Given the description of an element on the screen output the (x, y) to click on. 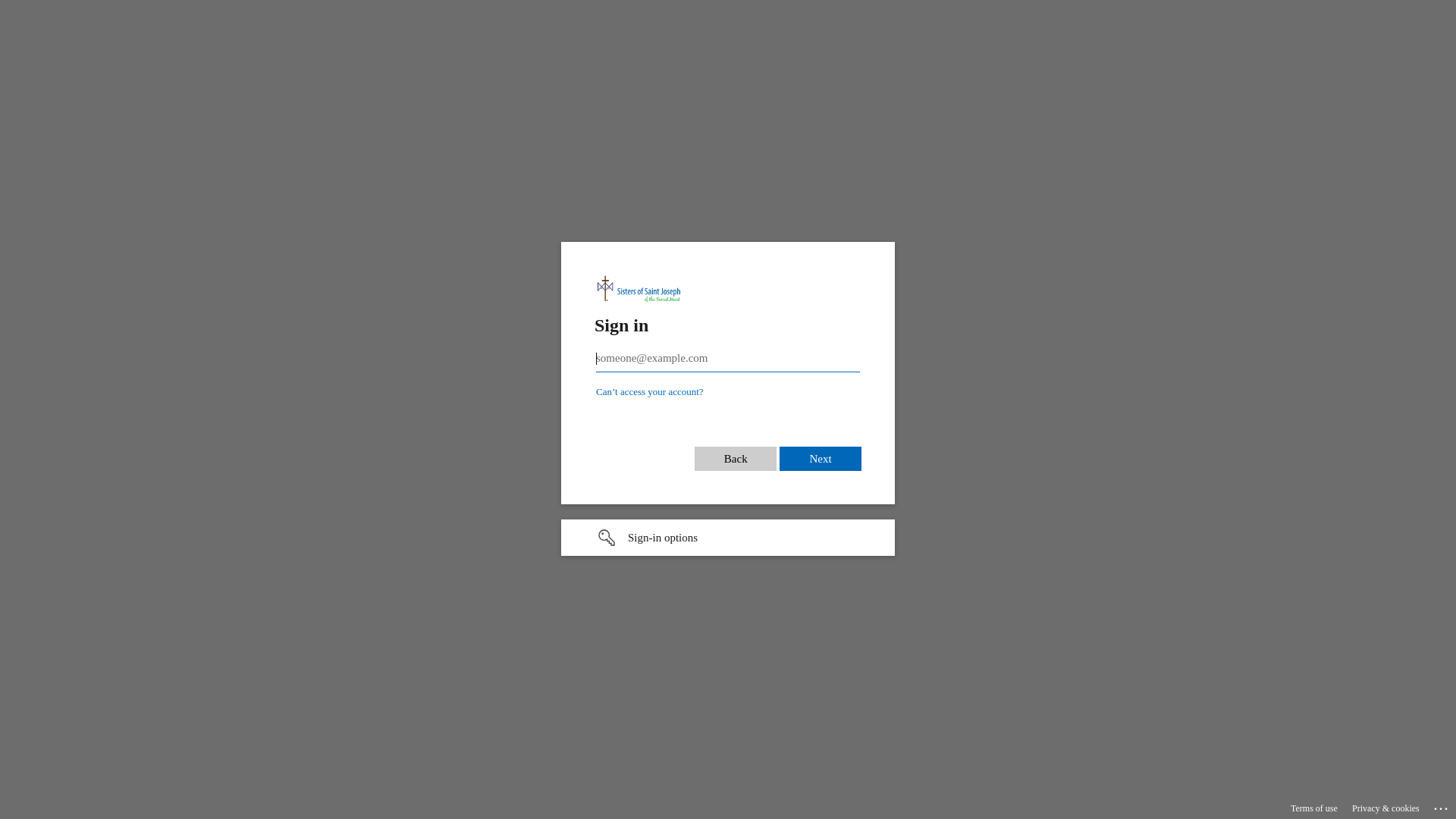
... Element type: text (1441, 805)
